Given the description of an element on the screen output the (x, y) to click on. 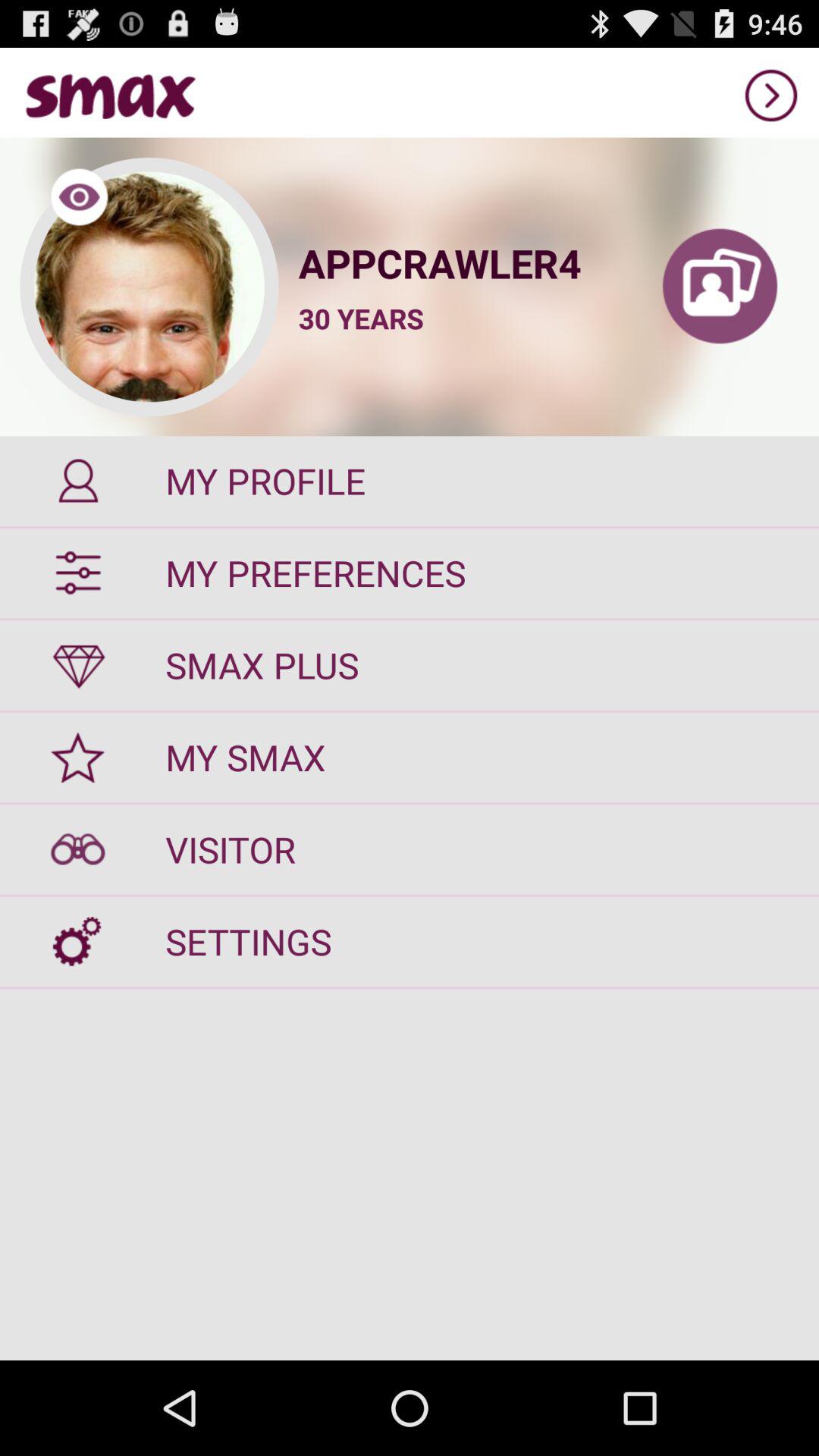
contact field (719, 286)
